Given the description of an element on the screen output the (x, y) to click on. 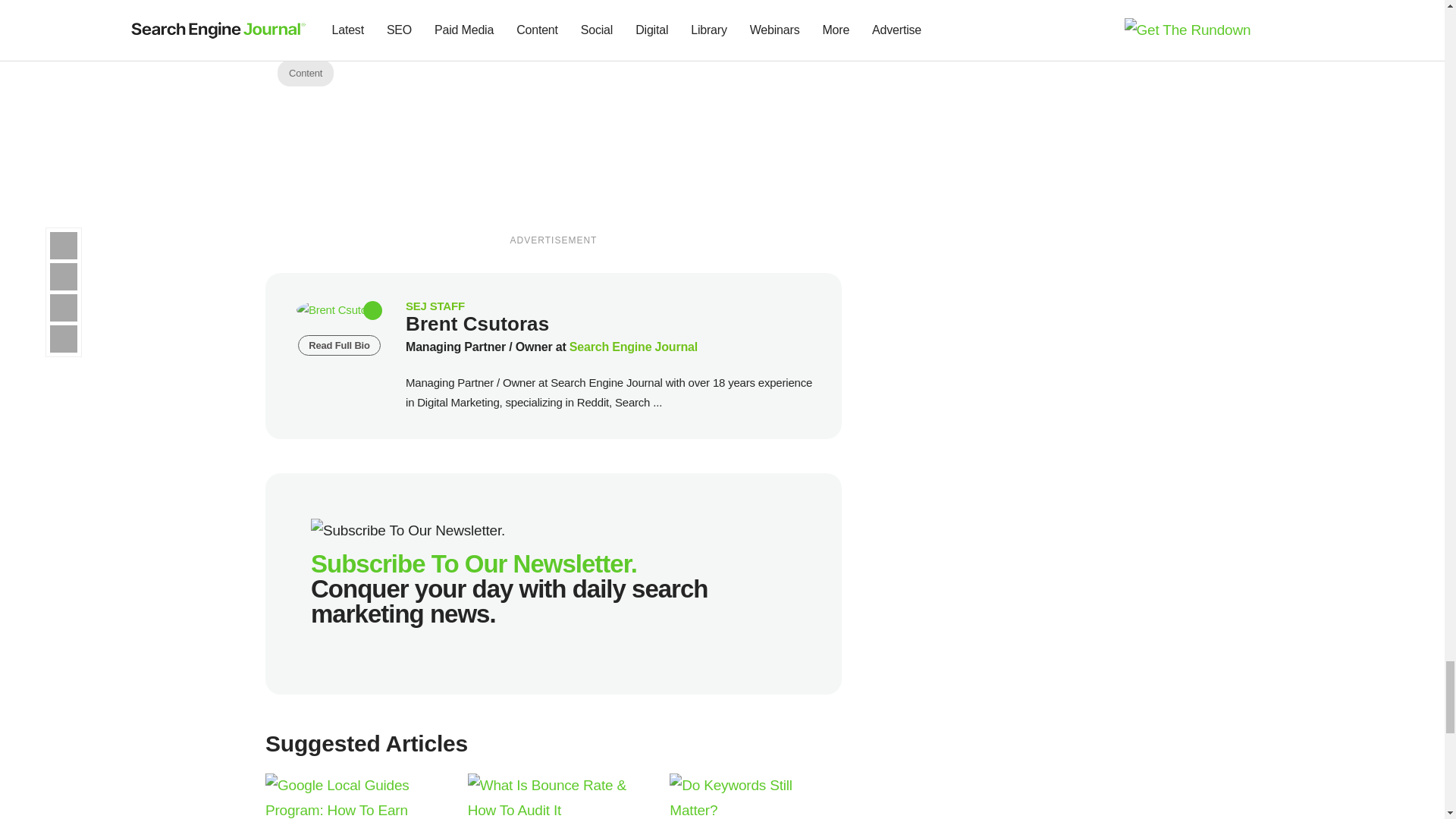
Read the Article (553, 796)
Read the Article (755, 796)
Read the Article (351, 796)
